Given the description of an element on the screen output the (x, y) to click on. 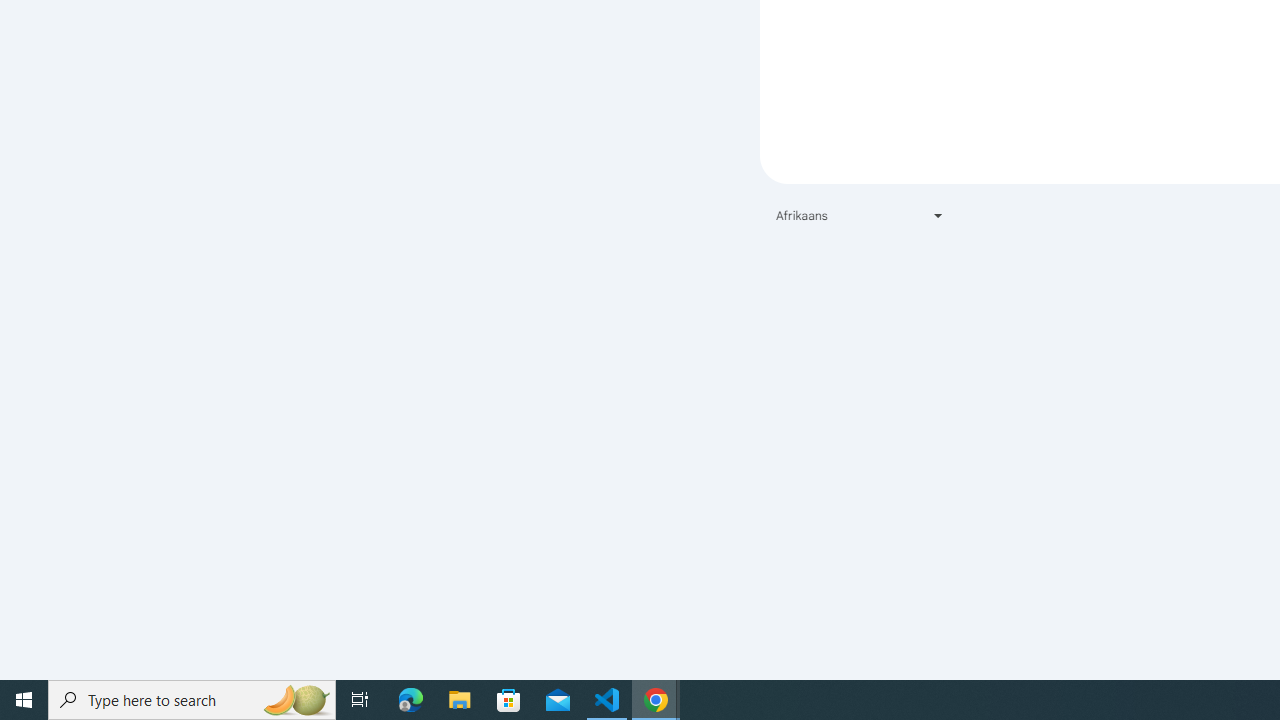
Print (104, 168)
Recover Unsaved Documents (932, 605)
Account (104, 551)
Export (104, 223)
Options (104, 605)
Transform (104, 278)
